Given the description of an element on the screen output the (x, y) to click on. 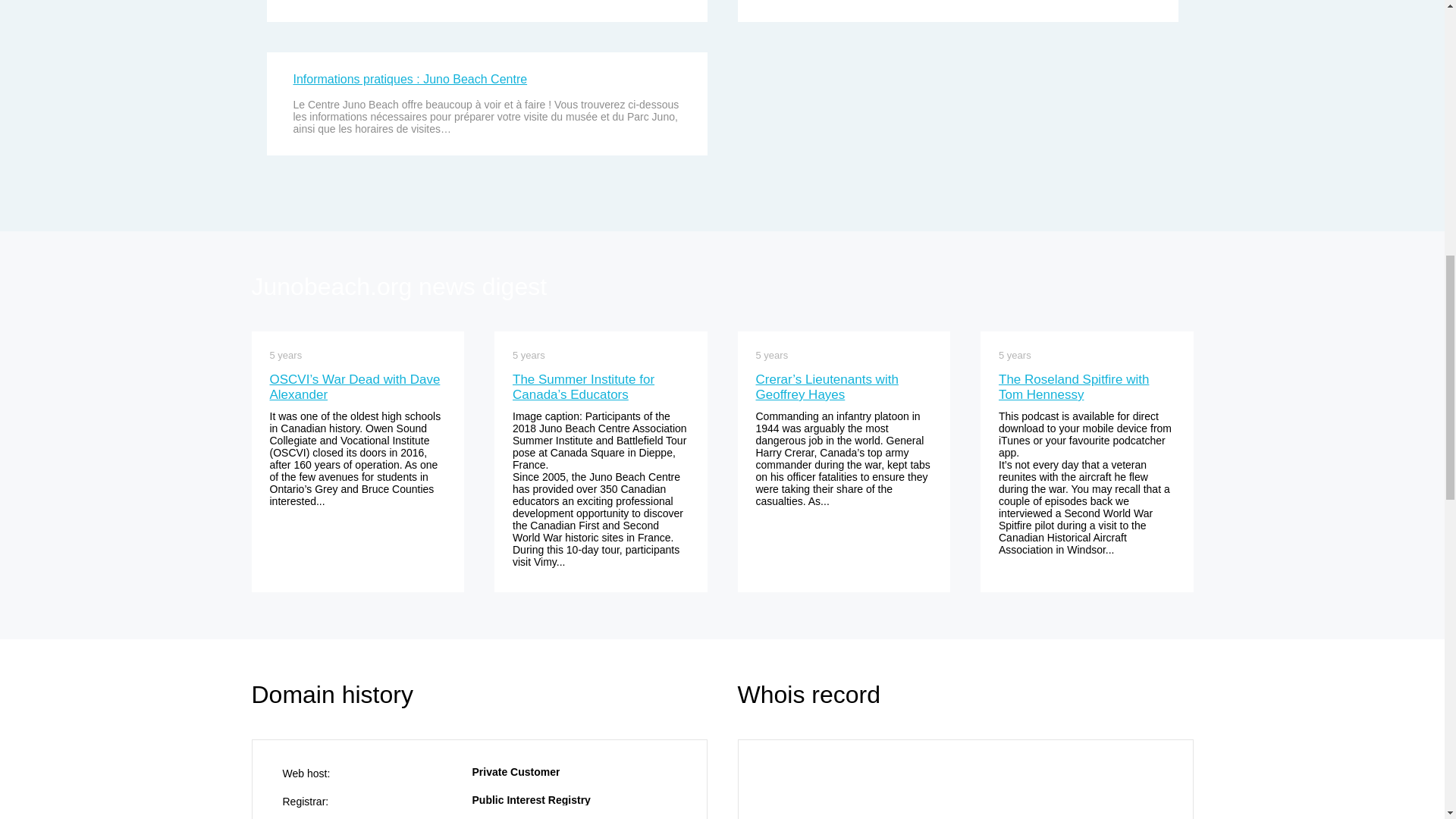
Informations pratiques : Juno Beach Centre (409, 78)
The Roseland Spitfire with Tom Hennessy (1073, 387)
